Given the description of an element on the screen output the (x, y) to click on. 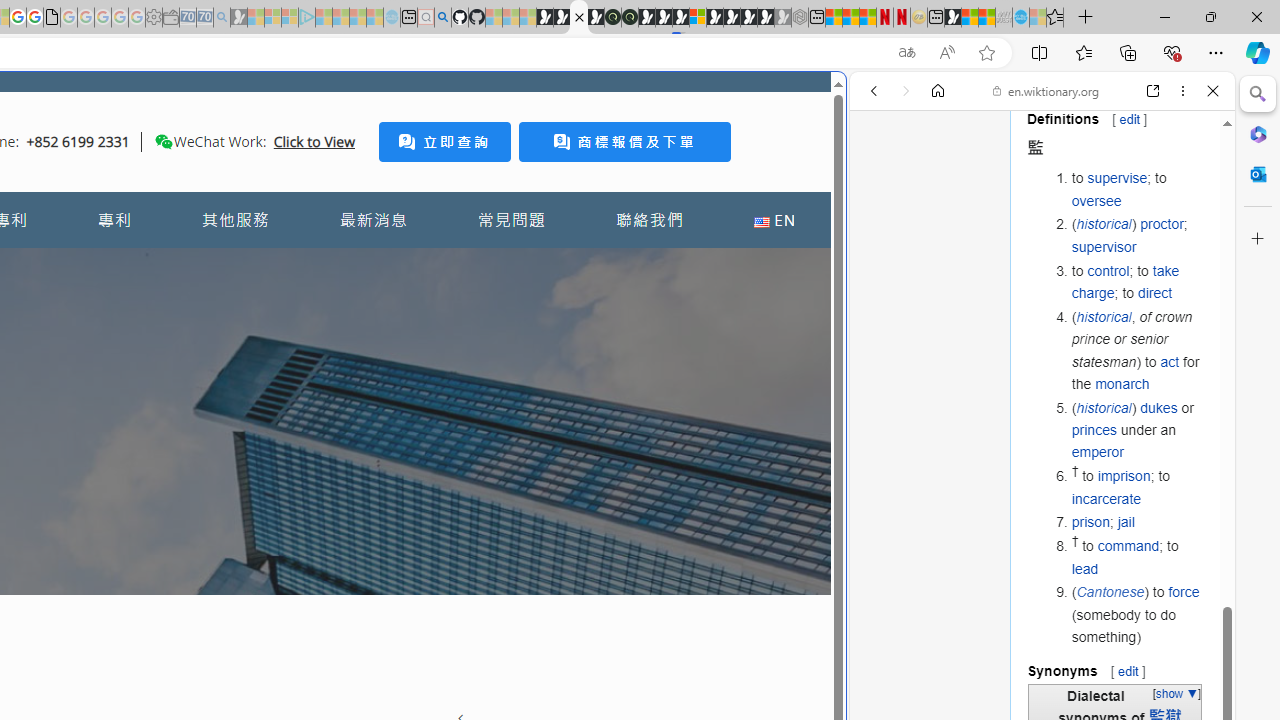
Home | Sky Blue Bikes - Sky Blue Bikes (687, 426)
direct (1154, 291)
